Given the description of an element on the screen output the (x, y) to click on. 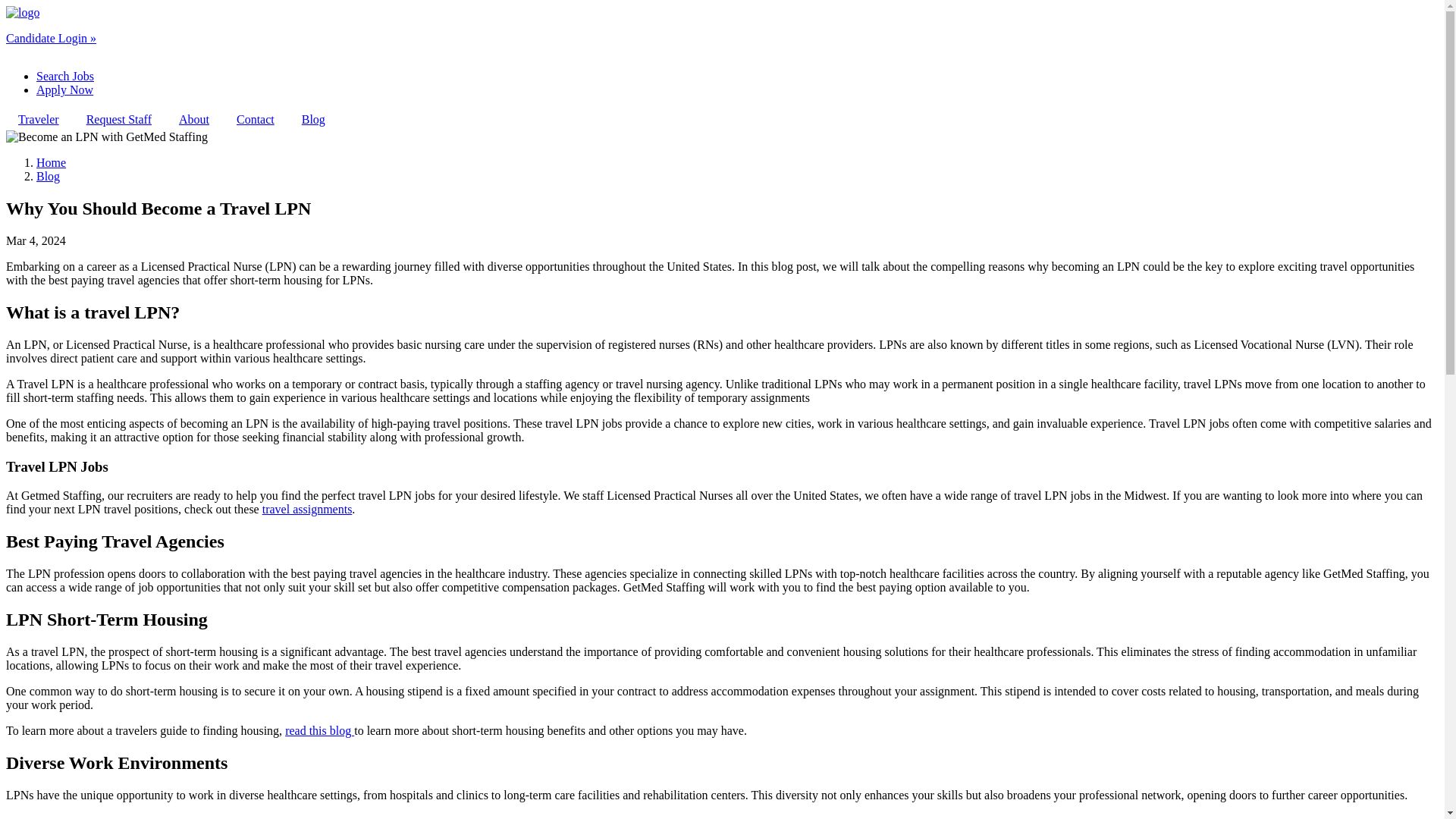
About (194, 119)
Blog (47, 175)
read this blog (319, 730)
Contact (255, 119)
Search Jobs (65, 75)
Request Staff (118, 119)
Apply Now (64, 89)
Home (22, 11)
Traveler (38, 119)
